Given the description of an element on the screen output the (x, y) to click on. 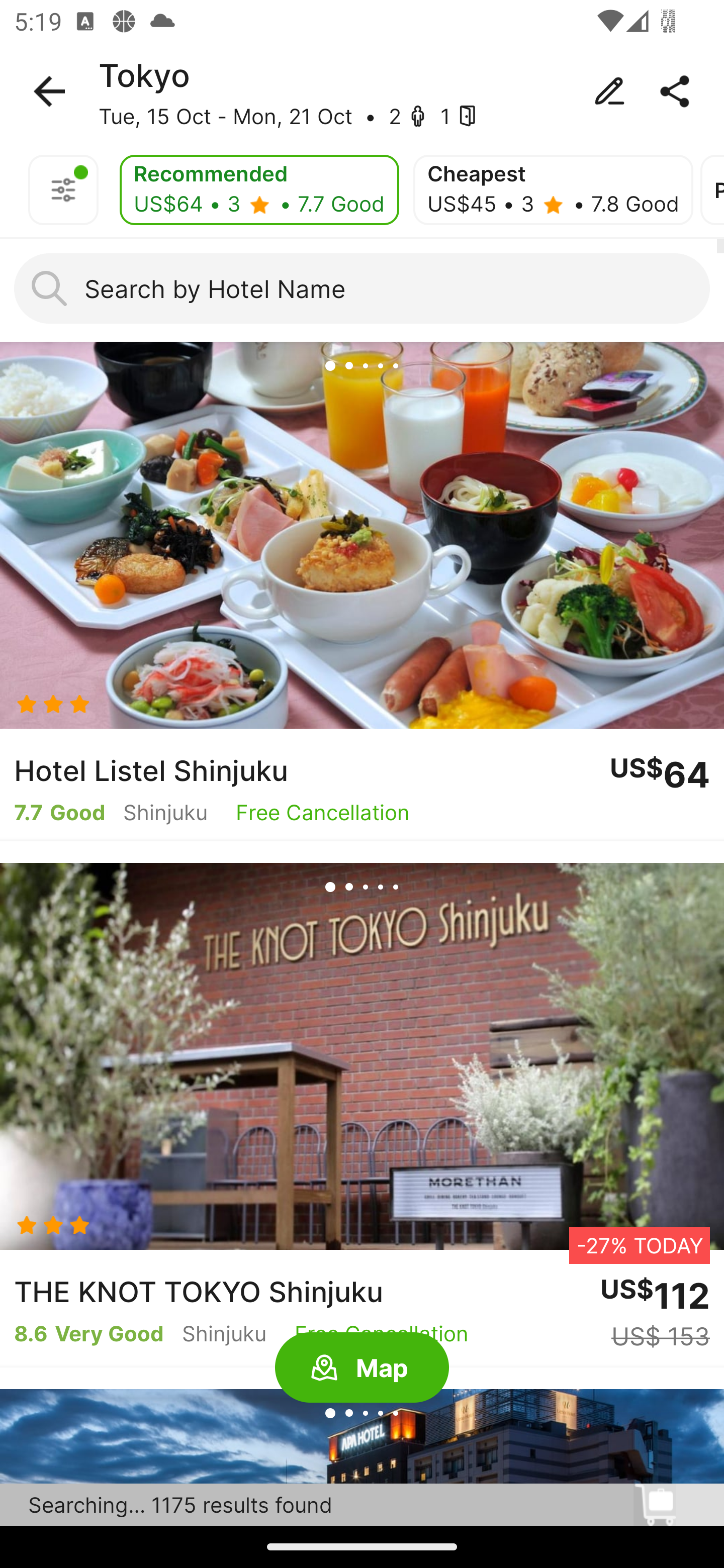
Tokyo Tue, 15 Oct - Mon, 21 Oct  •  2 -  1 - (361, 91)
Recommended  US$64  • 3 - • 7.7 Good (258, 190)
Cheapest US$45  • 3 - • 7.8 Good (553, 190)
Search by Hotel Name  (361, 288)
Map  (361, 1367)
